Given the description of an element on the screen output the (x, y) to click on. 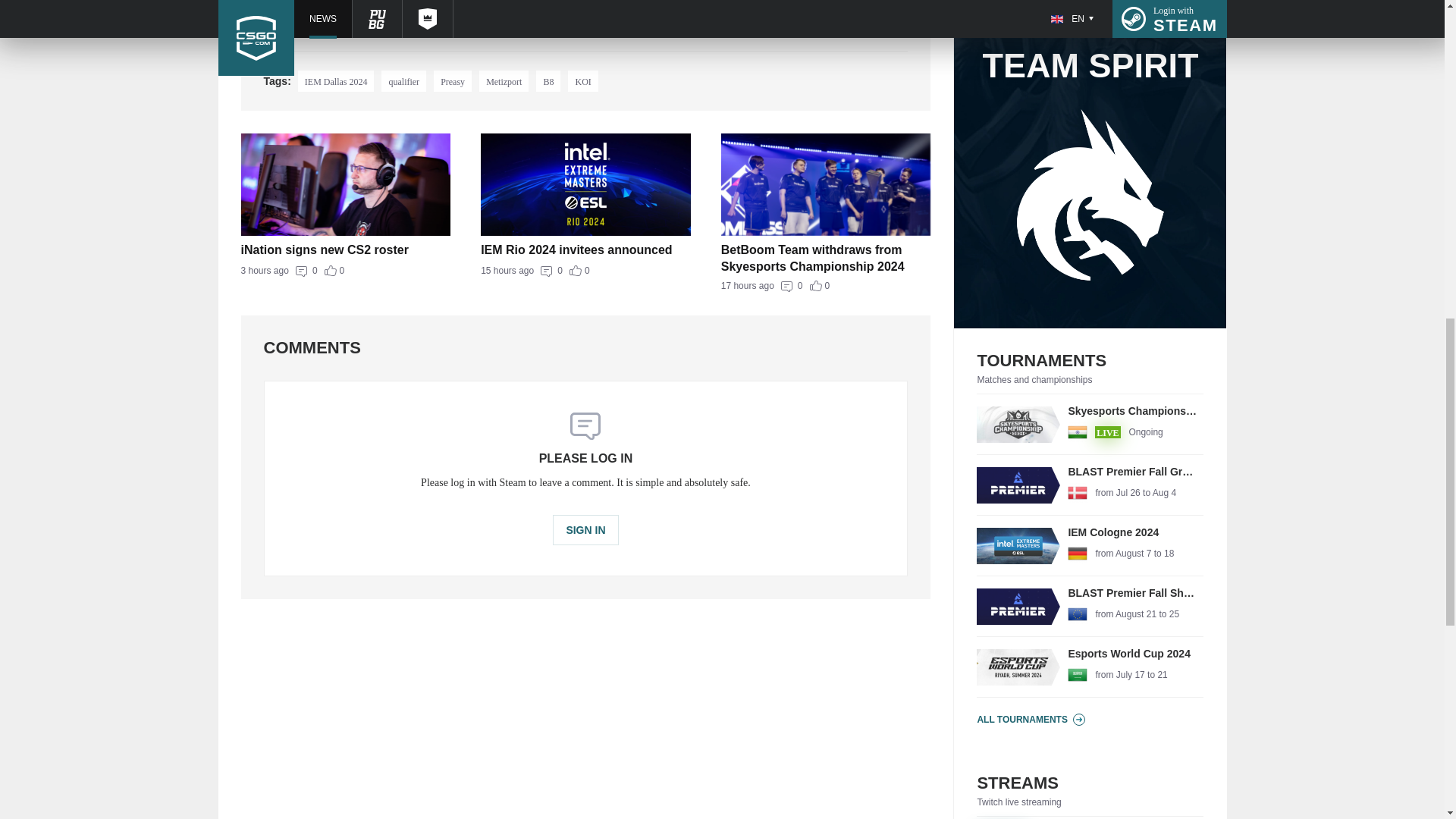
SIGN IN (585, 530)
KOI (581, 80)
BetBoom Team withdraws from Skyesports Championship 2024 (1090, 485)
IEM Rio 2024 invitees announced (825, 286)
Preasy (825, 257)
B8 (585, 249)
Metizport (452, 80)
iNation signs new CS2 roster (547, 80)
